Given the description of an element on the screen output the (x, y) to click on. 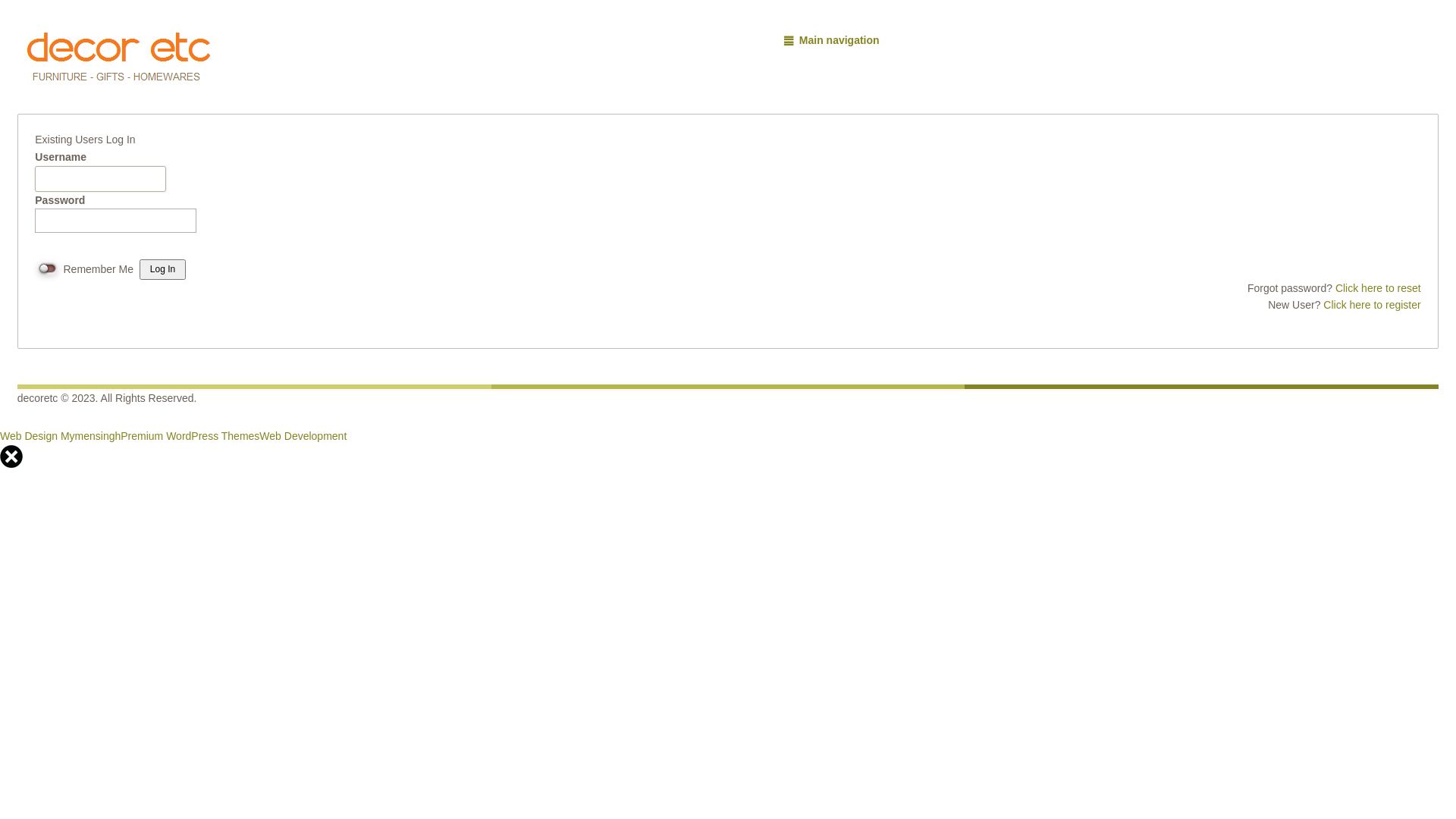
Main navigation Element type: text (831, 40)
Web Development Element type: text (302, 435)
Furnitures Gift and Homewares Element type: hover (121, 63)
Click here to register Element type: text (1371, 304)
Premium WordPress Themes Element type: text (189, 435)
Click here to reset Element type: text (1378, 288)
Log In Element type: text (162, 269)
Web Design Mymensingh Element type: text (60, 435)
